Given the description of an element on the screen output the (x, y) to click on. 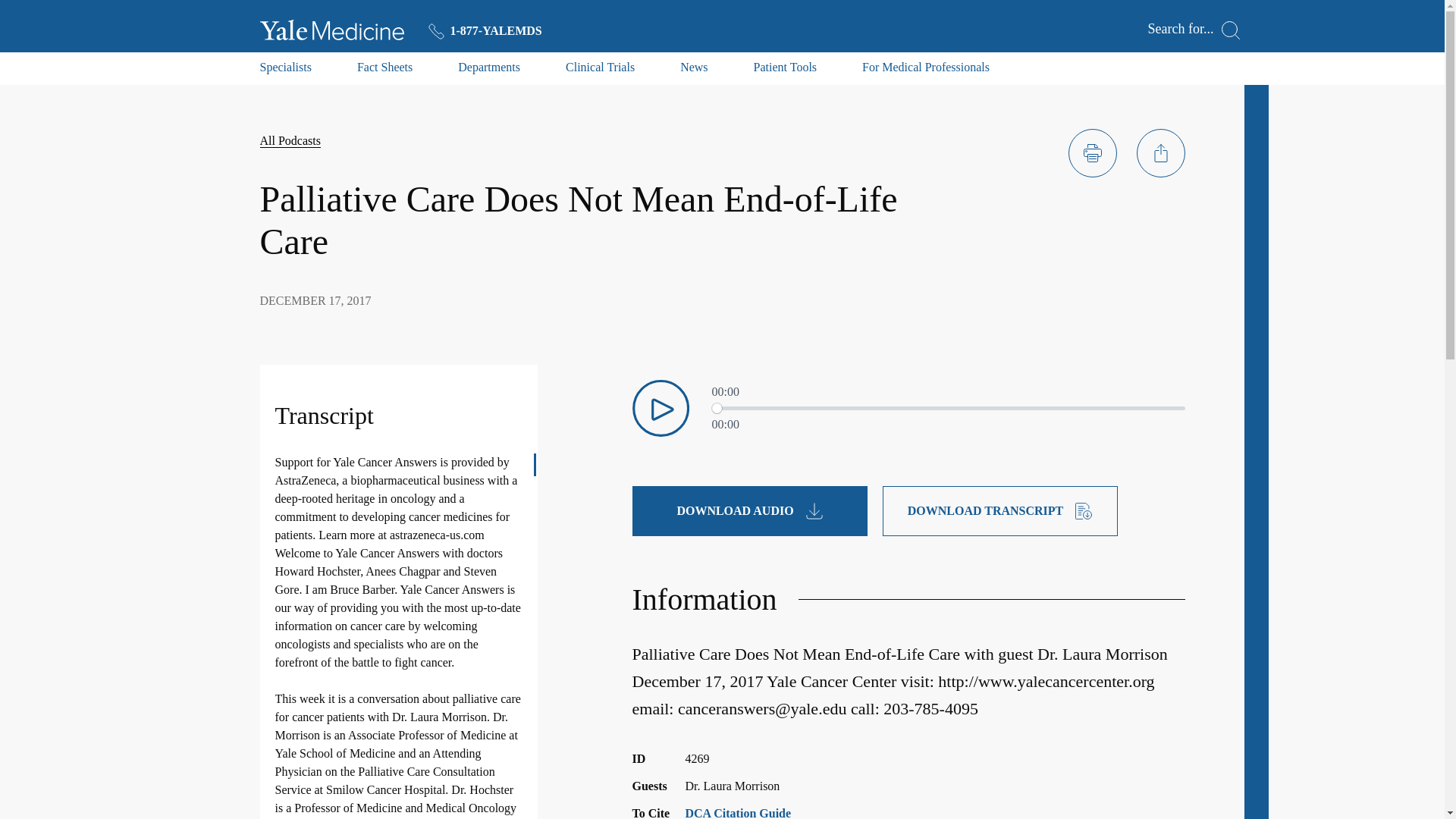
Patient Tools (785, 71)
All Podcasts (289, 141)
For Medical Professionals (925, 71)
Clinical Trials (600, 71)
News (693, 71)
Departments (488, 71)
Specialists (285, 71)
Search for (1193, 31)
DCA Citation Guide (738, 812)
0 (948, 408)
